Given the description of an element on the screen output the (x, y) to click on. 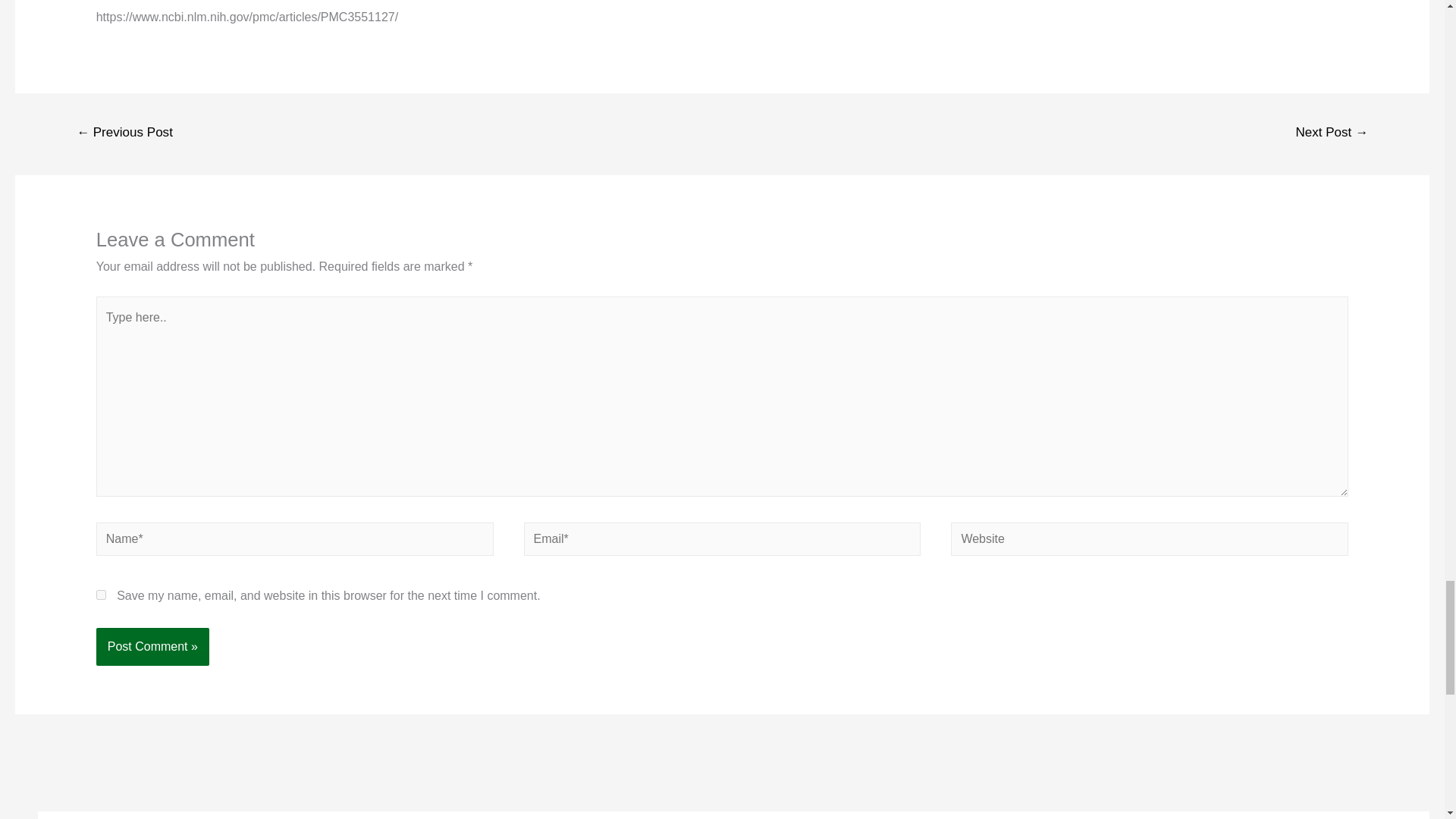
yes (101, 594)
